Given the description of an element on the screen output the (x, y) to click on. 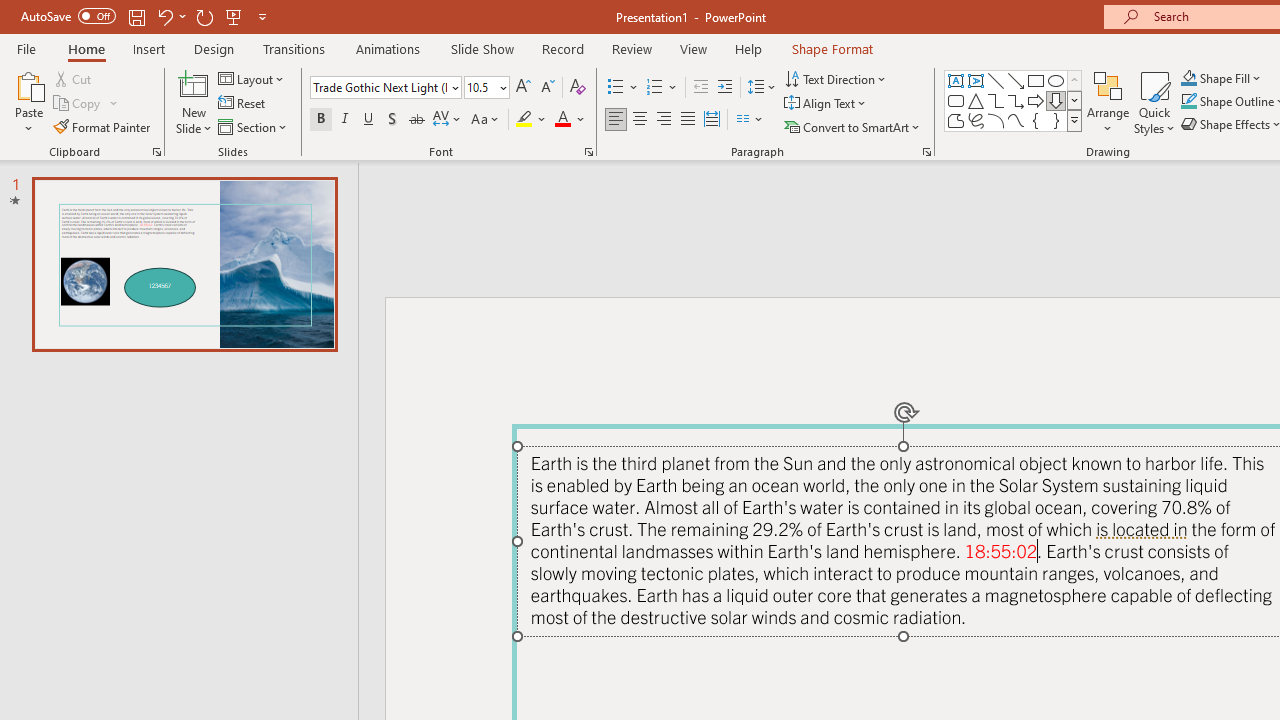
Line Arrow (1016, 80)
Line Spacing (762, 87)
Text Box (955, 80)
Change Case (486, 119)
Reset (243, 103)
Shape Outline Teal, Accent 1 (1188, 101)
Font... (588, 151)
Bullets (616, 87)
Arrow: Right (1035, 100)
Arrange (1108, 102)
Italic (344, 119)
Connector: Elbow (995, 100)
New Slide (193, 102)
